Given the description of an element on the screen output the (x, y) to click on. 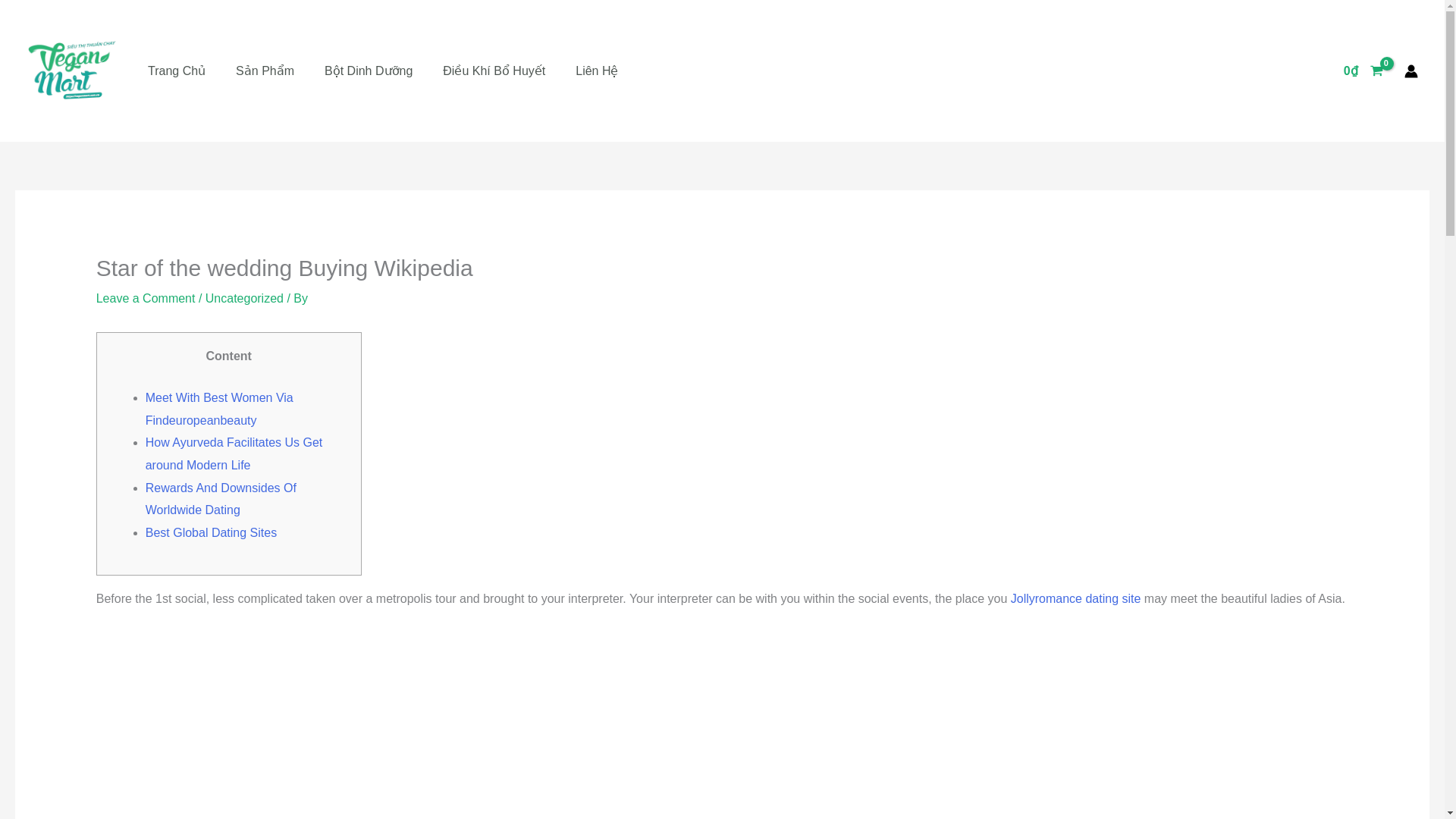
Uncategorized (244, 297)
How Ayurveda Facilitates Us Get around Modern Life (234, 453)
Best Global Dating Sites (210, 532)
Rewards And Downsides Of Worldwide Dating (221, 498)
Jollyromance dating site (1075, 598)
Leave a Comment (145, 297)
Meet With Best Women Via Findeuropeanbeauty (219, 408)
